Given the description of an element on the screen output the (x, y) to click on. 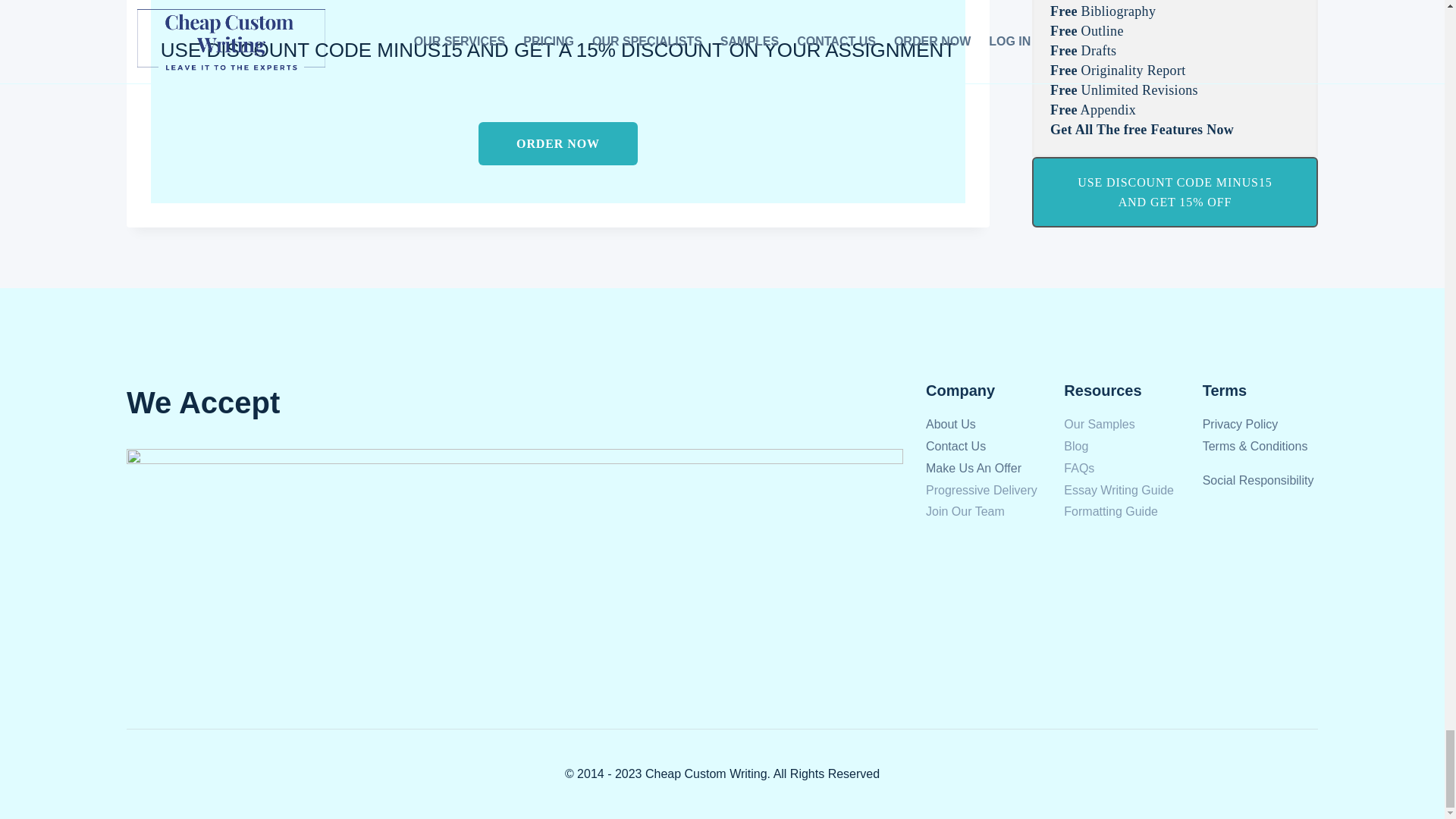
Make Us An Offer (974, 468)
About Us (950, 423)
Social Responsibility (1258, 480)
ORDER NOW (558, 144)
Contact Us (955, 445)
Privacy Policy (1240, 423)
